Given the description of an element on the screen output the (x, y) to click on. 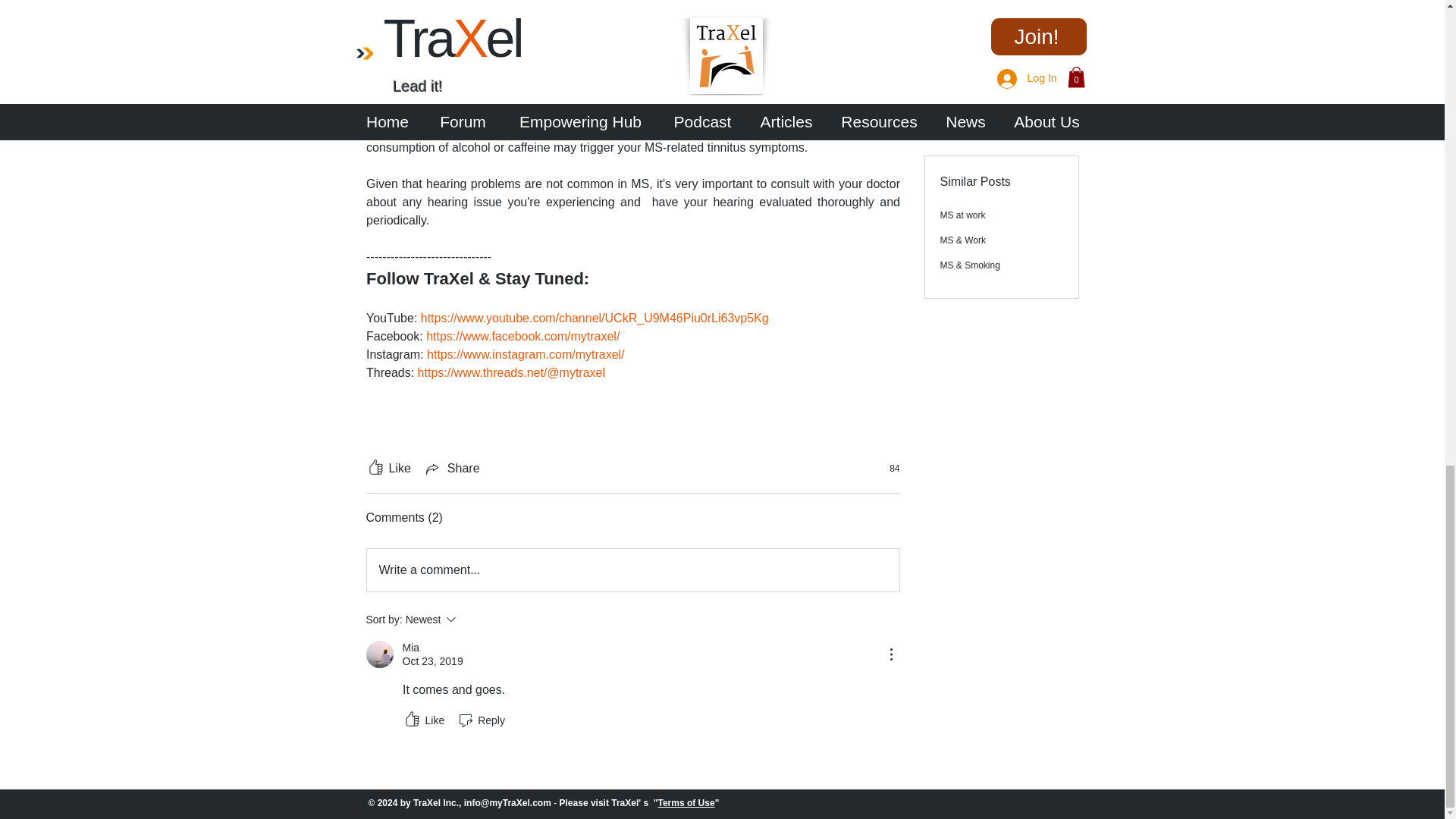
stress (709, 128)
heat (667, 128)
84 (885, 468)
Mia (379, 654)
Share (451, 468)
Like (387, 468)
Write a comment... (632, 569)
